Given the description of an element on the screen output the (x, y) to click on. 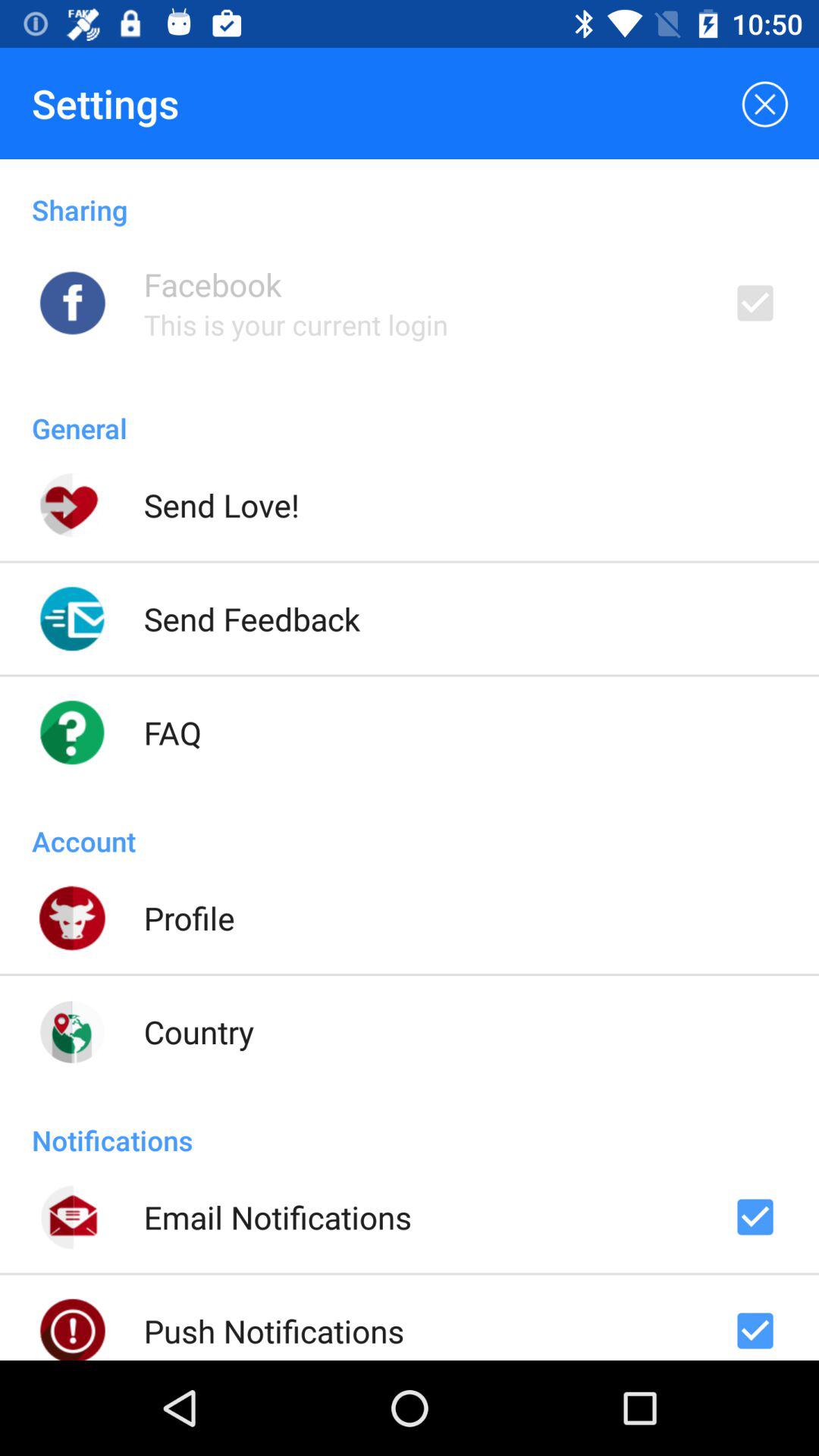
flip until faq (172, 732)
